Given the description of an element on the screen output the (x, y) to click on. 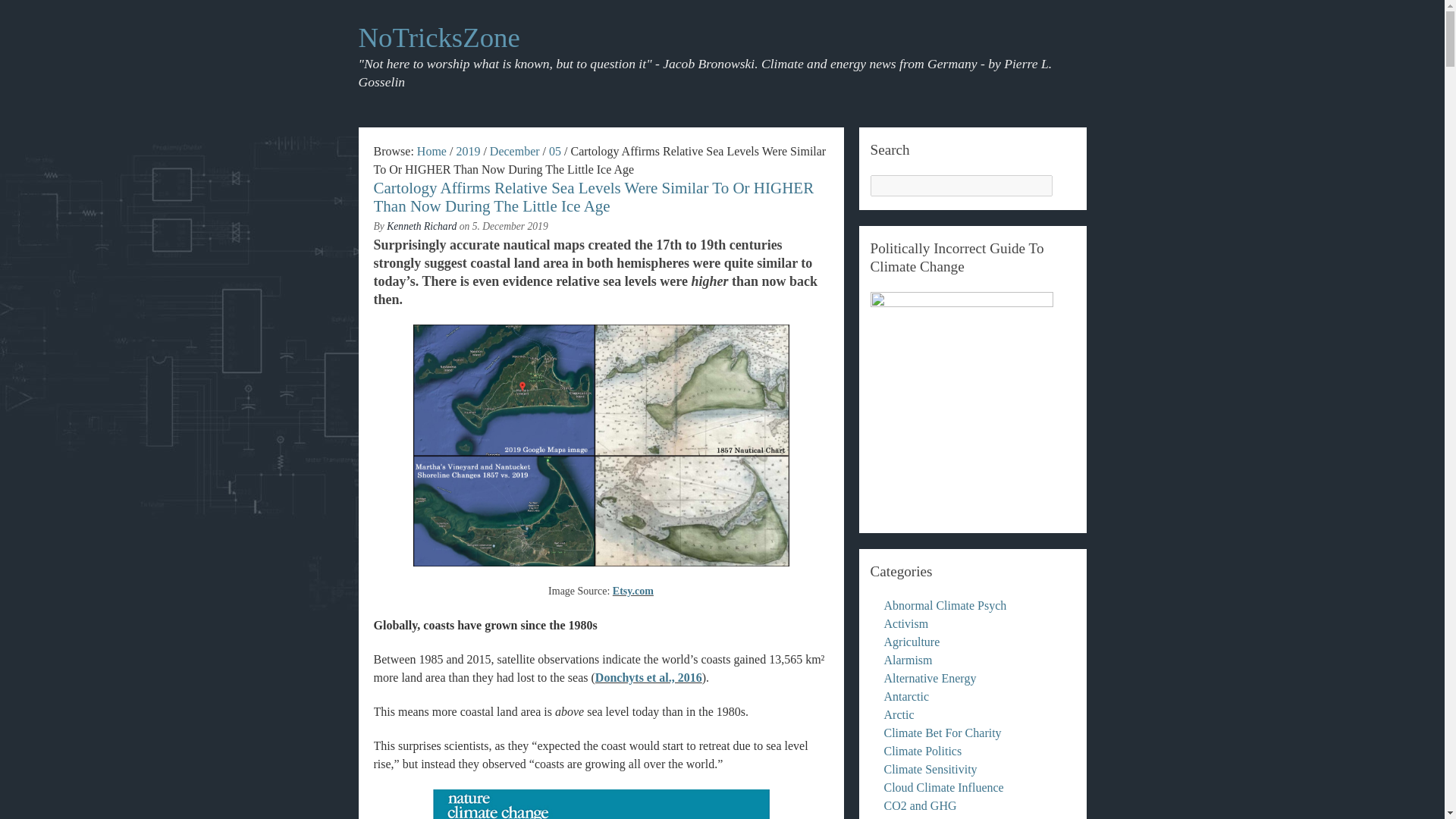
NoTricksZone (438, 37)
2019 (467, 151)
Donchyts et al., 2016 (648, 676)
Kenneth Richard (422, 225)
December (514, 151)
Etsy.com (632, 591)
Thursday, December 5th, 2019, 6:18 pm (509, 225)
NoTricksZone (431, 151)
2019 (467, 151)
